Given the description of an element on the screen output the (x, y) to click on. 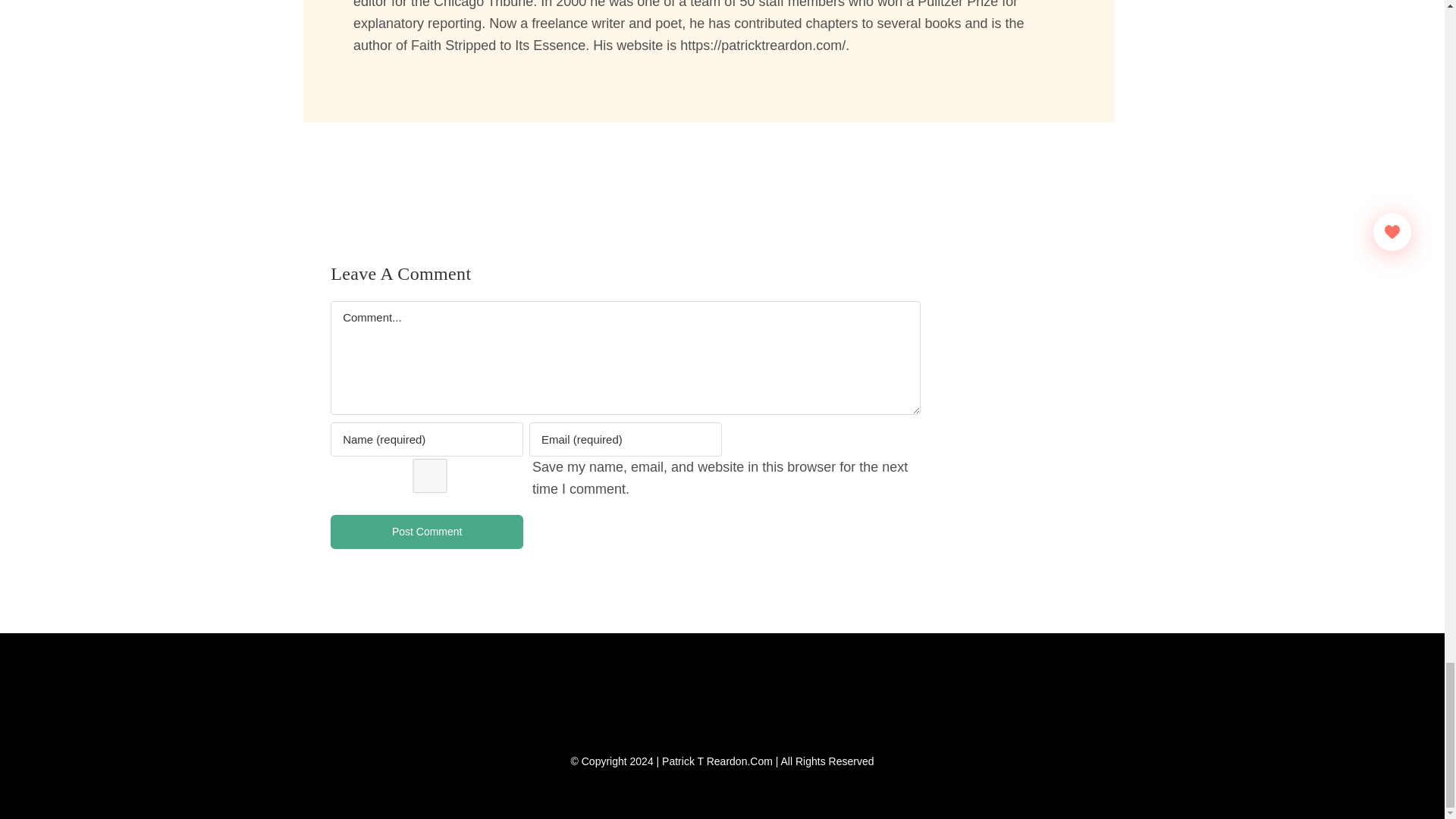
Post Comment (426, 531)
Post Comment (426, 531)
yes (429, 475)
